Given the description of an element on the screen output the (x, y) to click on. 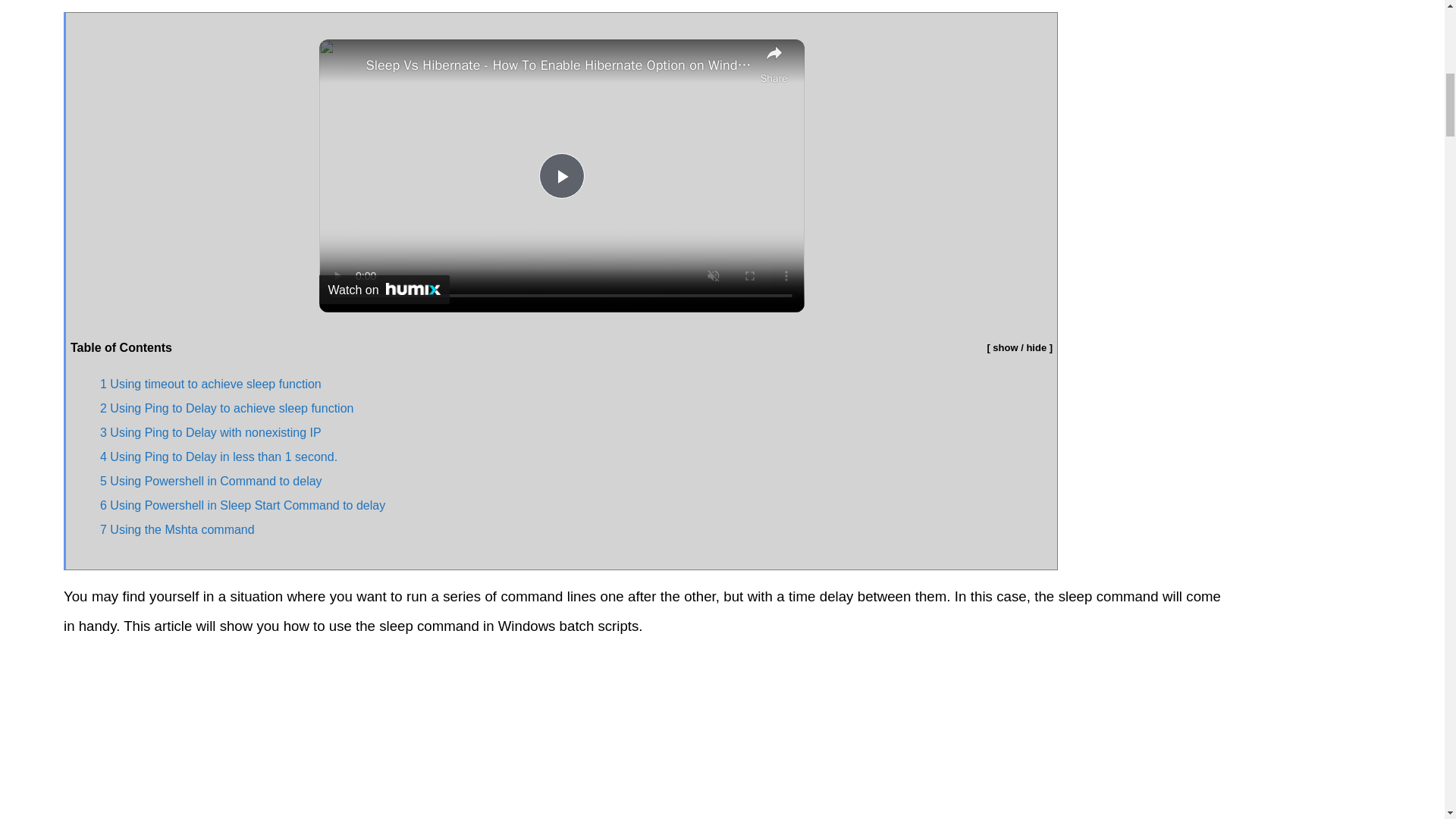
1 Using timeout to achieve sleep function (210, 383)
3 Using Ping to Delay with nonexisting IP (210, 431)
5 Using Powershell in Command to delay  (212, 481)
Play Video (561, 176)
2 Using Ping to Delay to achieve sleep function (226, 408)
Play Video (561, 176)
7 Using the Mshta command (177, 529)
Watch on (383, 289)
6 Using Powershell in Sleep Start Command to delay  (244, 504)
4 Using Ping to Delay in less than 1 second. (218, 456)
